Given the description of an element on the screen output the (x, y) to click on. 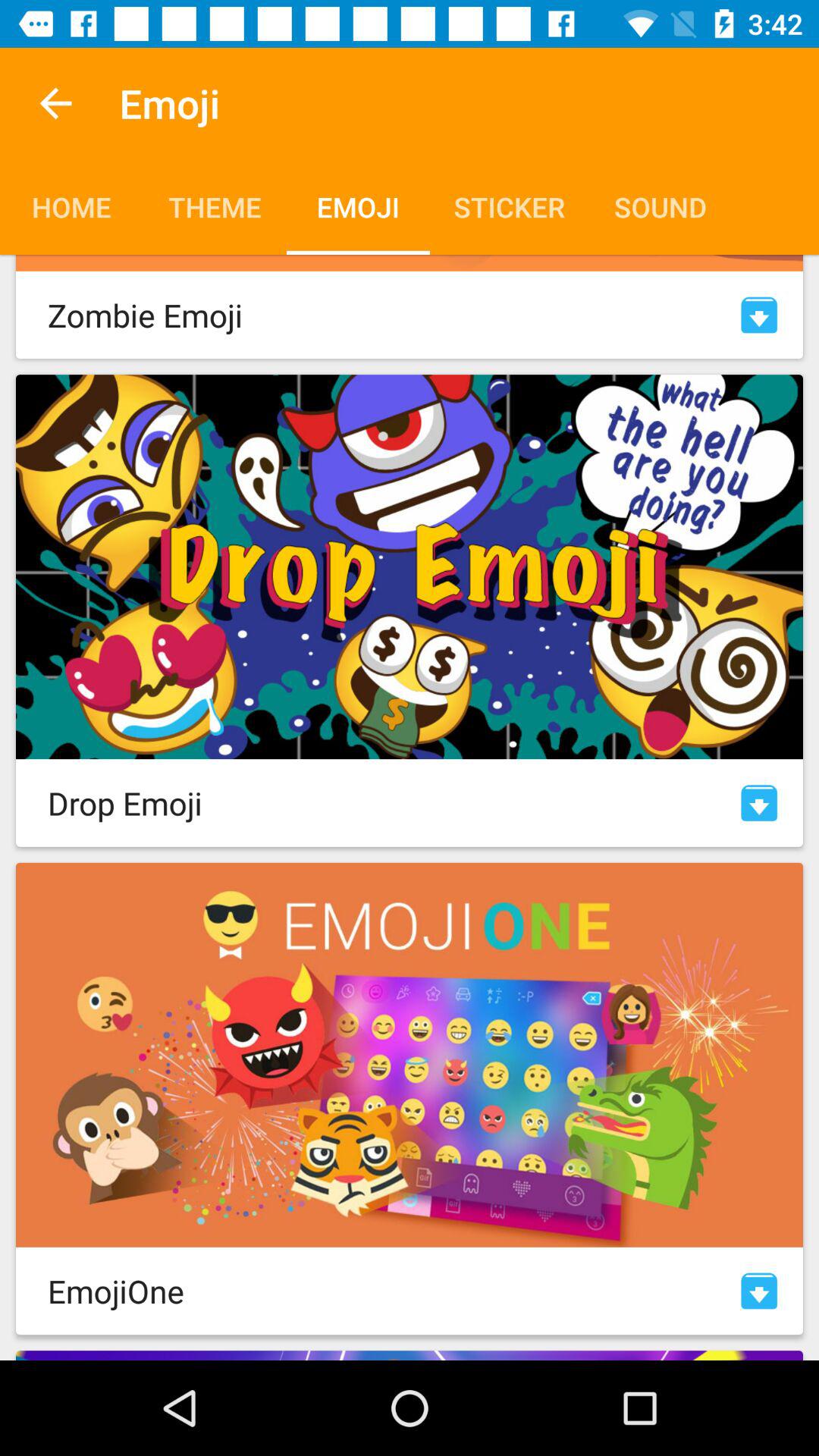
download the page (759, 314)
